Given the description of an element on the screen output the (x, y) to click on. 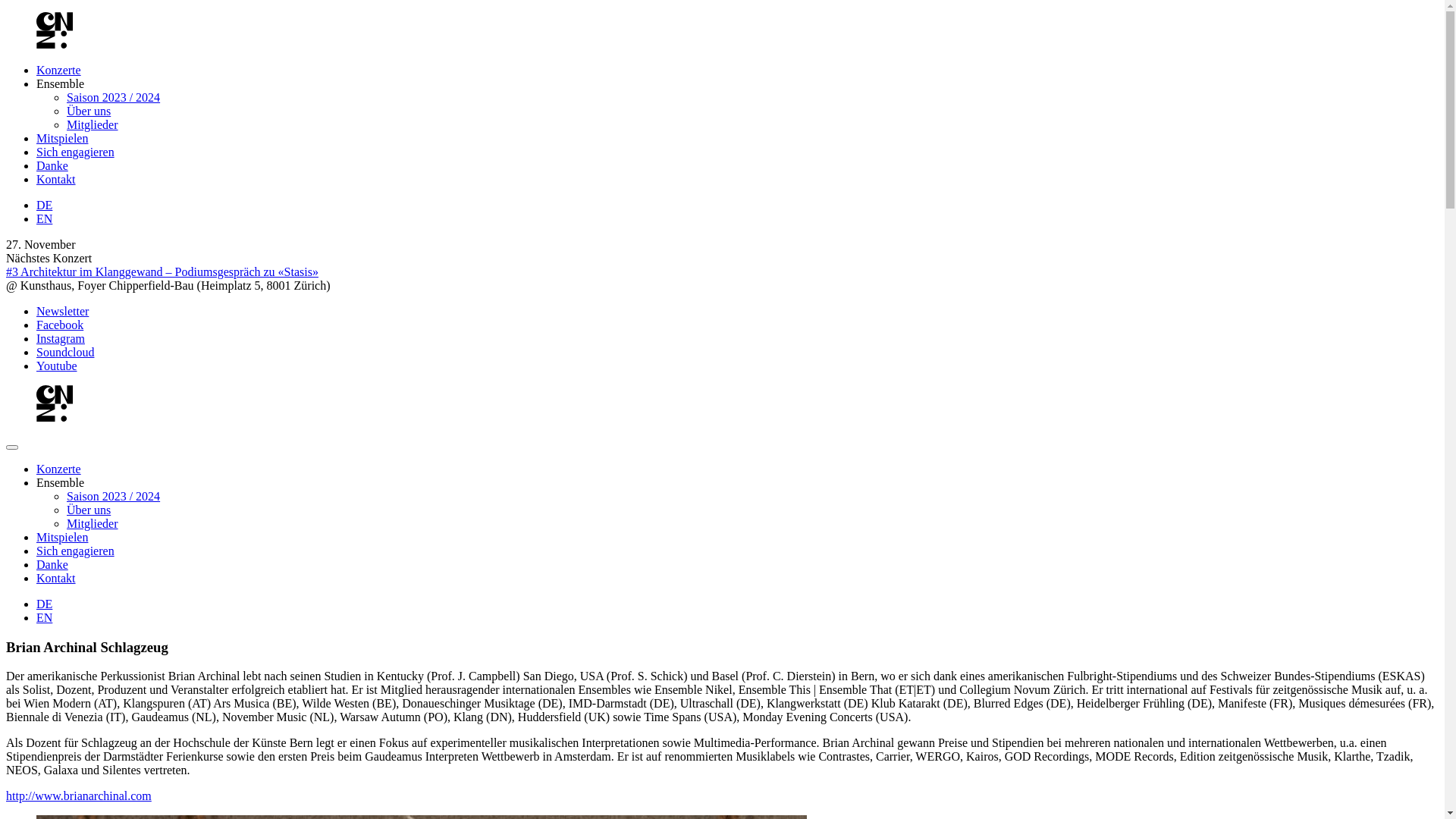
EN Element type: text (44, 617)
Instagram Element type: text (60, 338)
Saison 2023 / 2024 Element type: text (113, 495)
http://www.brianarchinal.com Element type: text (78, 795)
Facebook Element type: text (59, 324)
Soundcloud Element type: text (65, 351)
Mitspielen Element type: text (61, 137)
Saison 2023 / 2024 Element type: text (113, 97)
Kontakt Element type: text (55, 178)
Sich engagieren Element type: text (75, 151)
Sich engagieren Element type: text (75, 550)
Youtube Element type: text (56, 365)
Danke Element type: text (52, 564)
Mitspielen Element type: text (61, 536)
Mitglieder Element type: text (92, 124)
Kontakt Element type: text (55, 577)
DE Element type: text (44, 204)
Konzerte Element type: text (58, 468)
EN Element type: text (44, 218)
DE Element type: text (44, 603)
Danke Element type: text (52, 165)
Mitglieder Element type: text (92, 523)
Konzerte Element type: text (58, 69)
Newsletter Element type: text (62, 310)
